Given the description of an element on the screen output the (x, y) to click on. 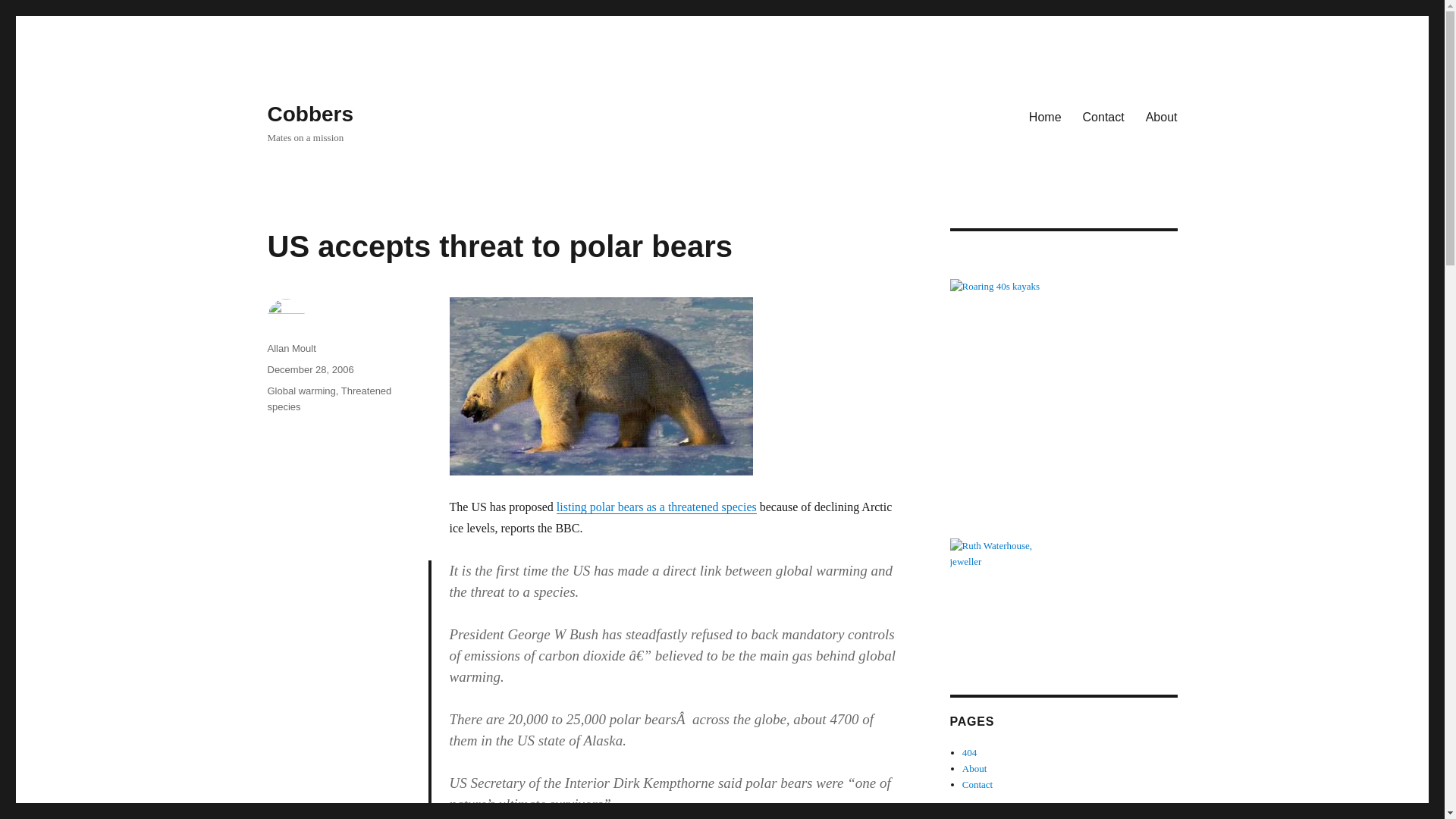
listing polar bears as a threatened species (656, 506)
About (1161, 116)
Home (1044, 116)
Allan Moult (290, 348)
Contact (1103, 116)
Threatened species (328, 398)
About (974, 767)
404 (969, 752)
Cobbers (309, 114)
Contact (977, 784)
Global warming (300, 390)
December 28, 2006 (309, 369)
